Given the description of an element on the screen output the (x, y) to click on. 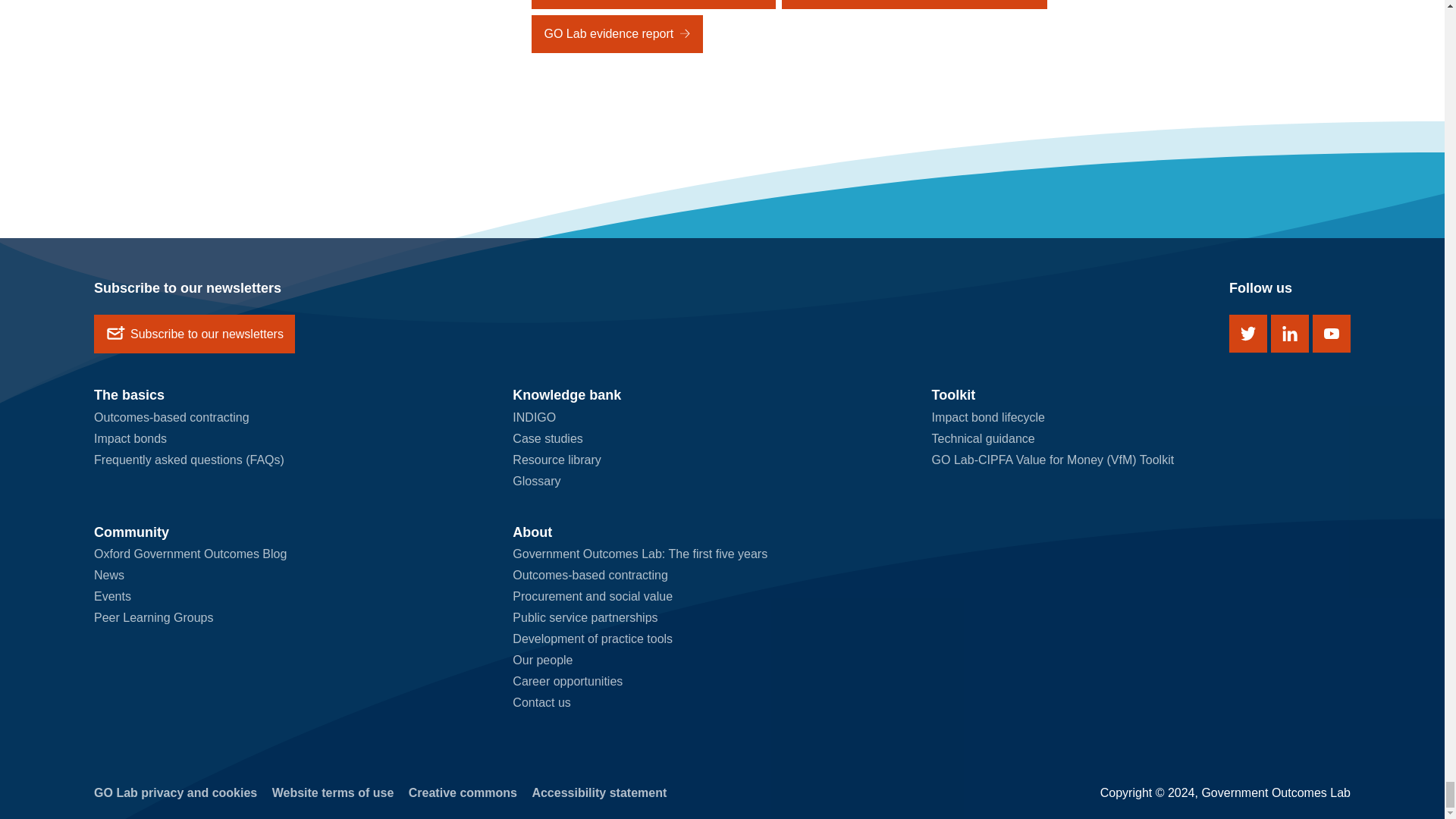
Follow us on YouTube (1332, 333)
Follow us on Twitter (1247, 333)
Follow us on LinkedIn (1289, 333)
